Given the description of an element on the screen output the (x, y) to click on. 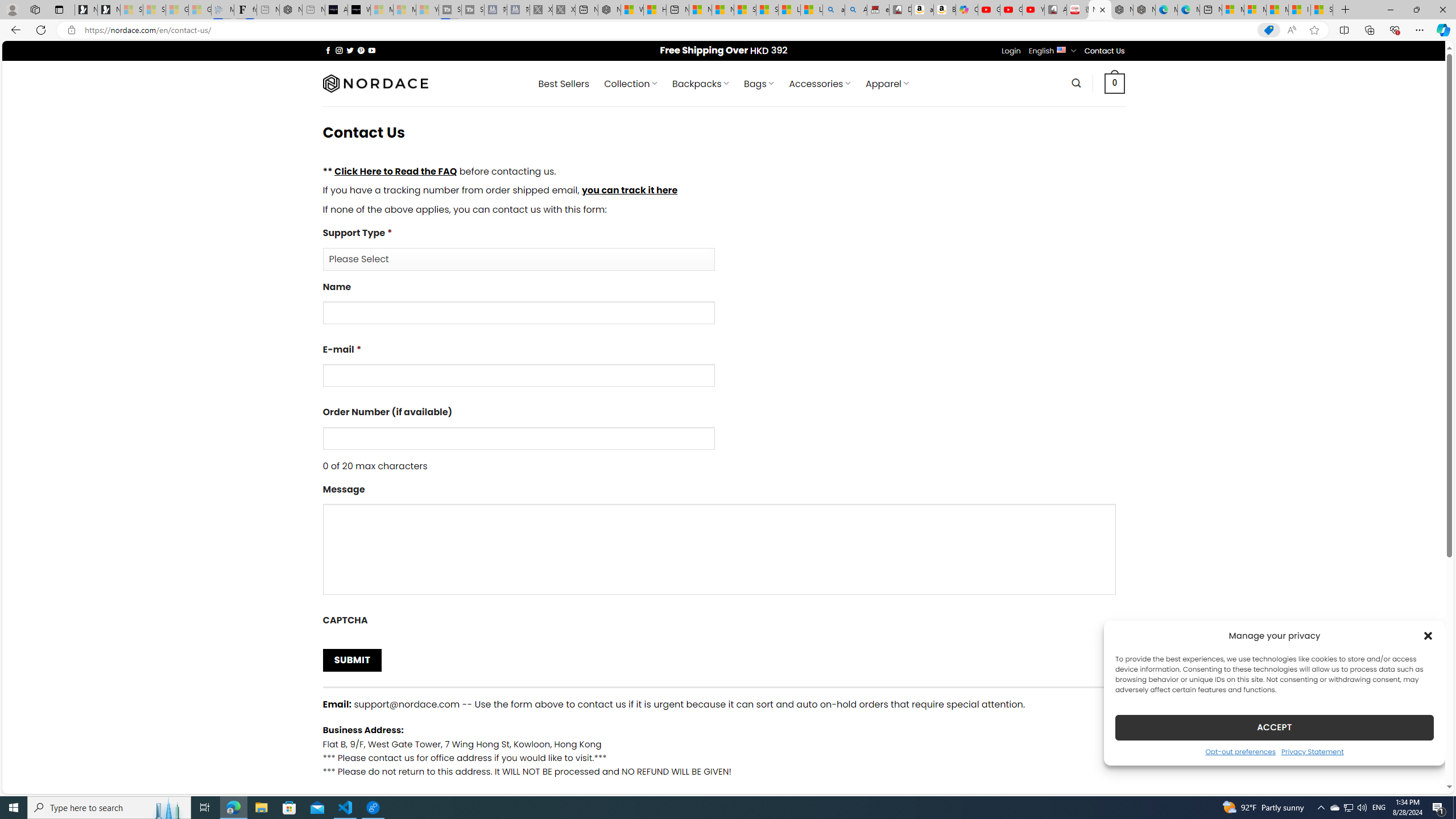
Message (718, 549)
Order Number (if available)0 of 20 max characters (723, 438)
